Given the description of an element on the screen output the (x, y) to click on. 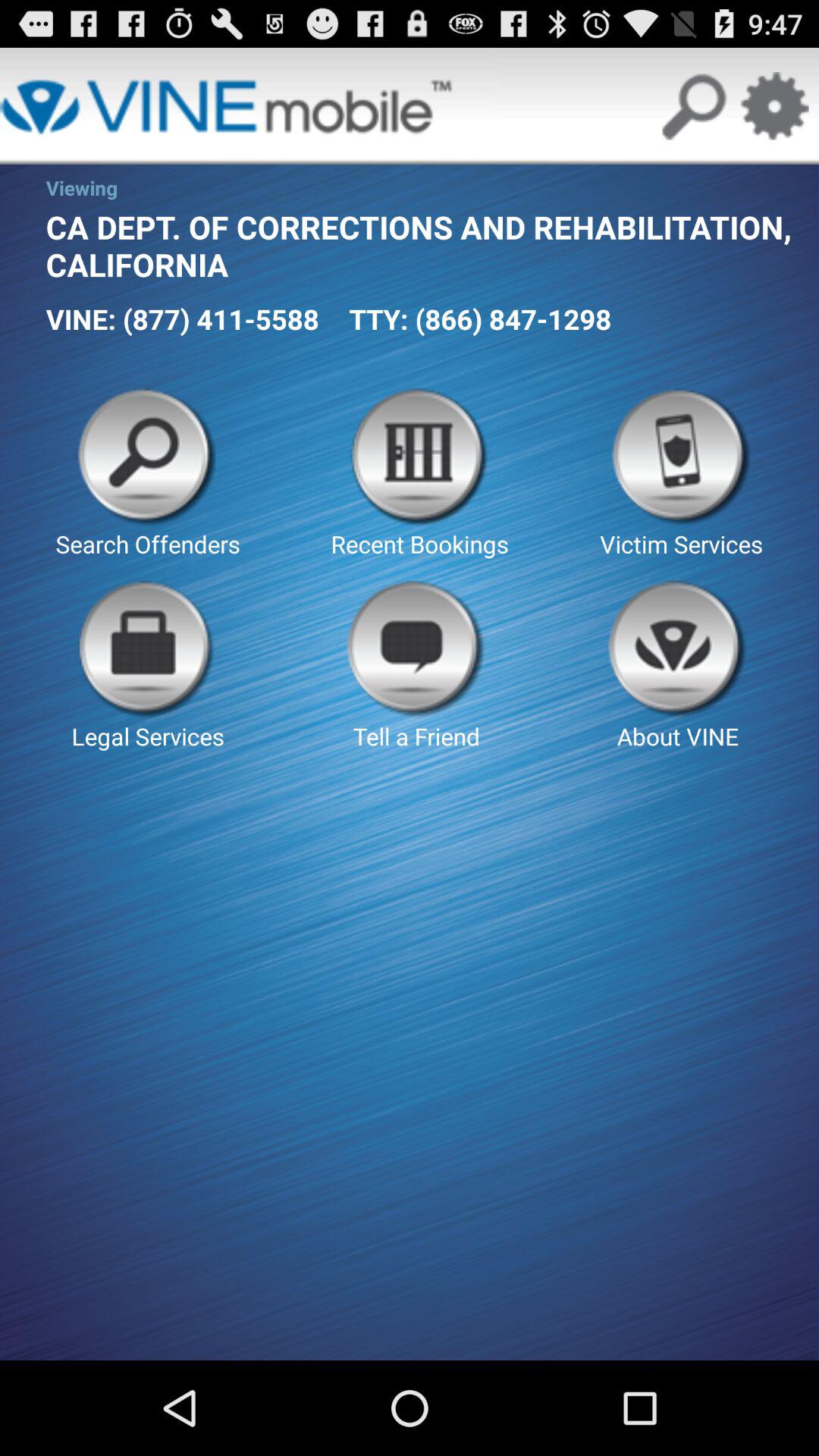
flip until search offenders (147, 474)
